Given the description of an element on the screen output the (x, y) to click on. 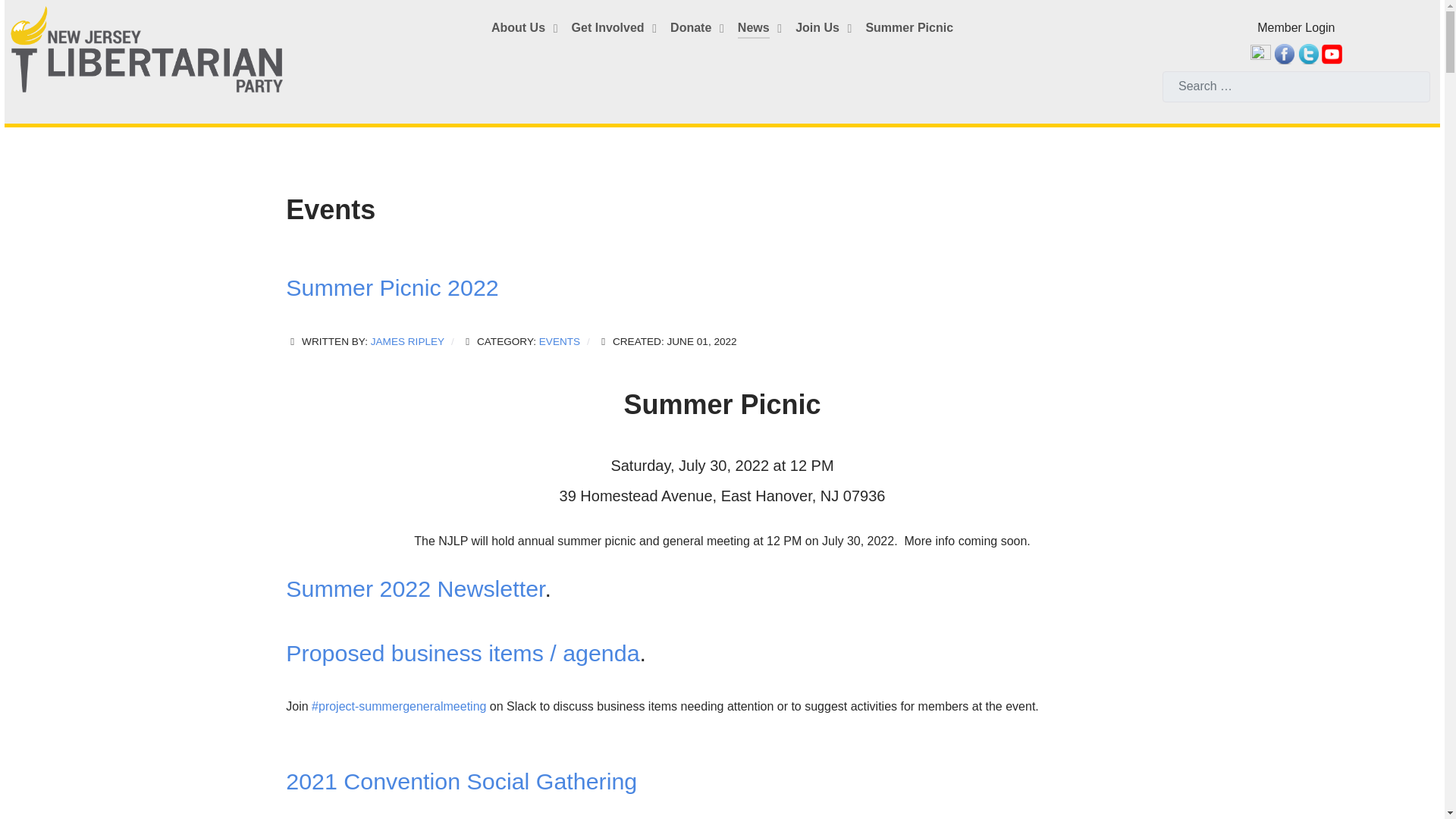
News (761, 29)
NJLP Twitter (1308, 52)
NJLP YouTube (1332, 52)
Get Involved (615, 29)
Donate (697, 29)
Join Us (824, 29)
About Us (526, 29)
NJLP Facebook (1284, 52)
